Given the description of an element on the screen output the (x, y) to click on. 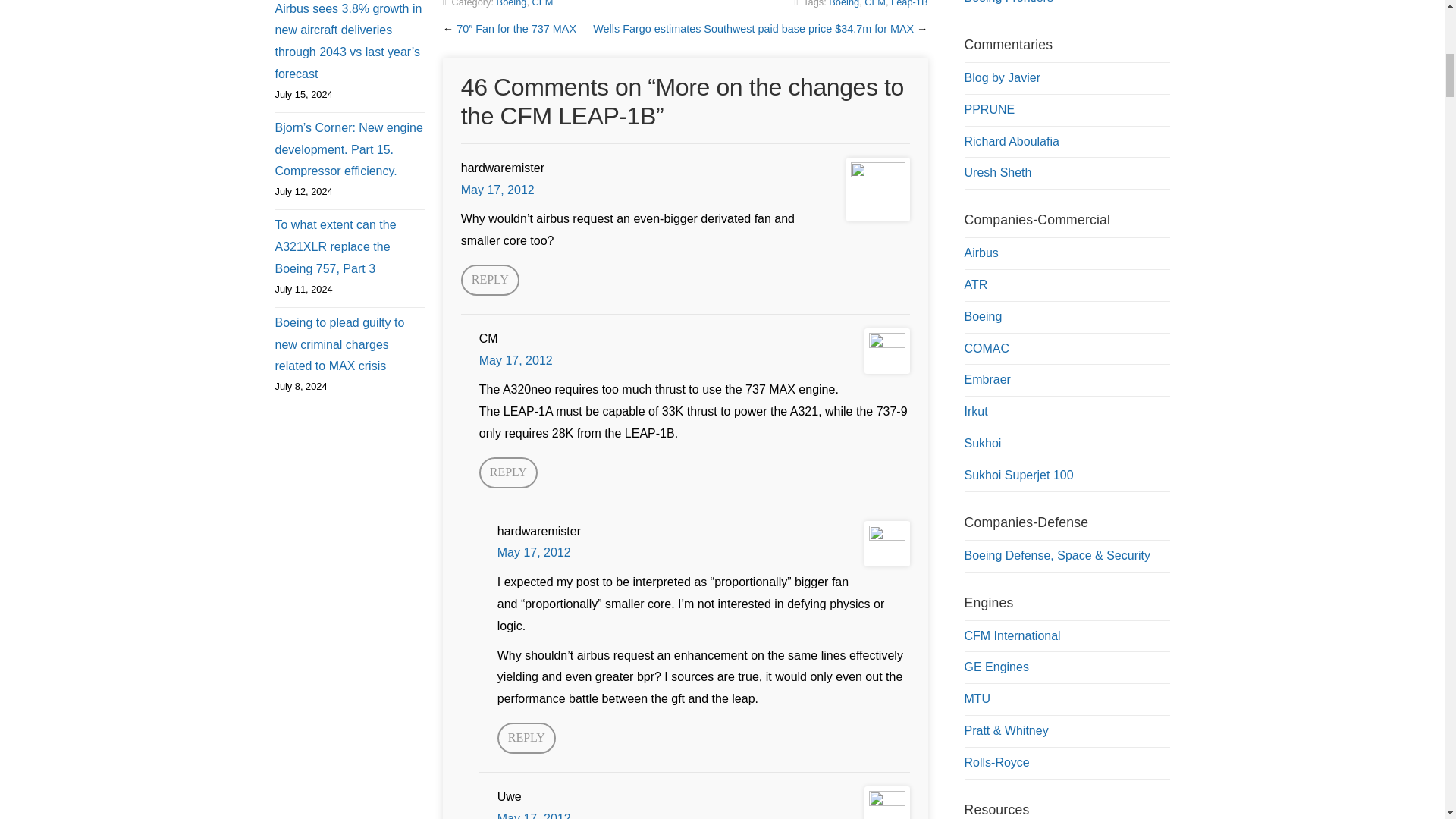
CFM (542, 3)
REPLY (490, 279)
Boeing (843, 3)
Boeing (511, 3)
CFM (874, 3)
May 17, 2012 (533, 815)
REPLY (508, 472)
May 17, 2012 (497, 189)
Leap-1B (909, 3)
REPLY (526, 737)
May 17, 2012 (516, 359)
May 17, 2012 (533, 552)
